Given the description of an element on the screen output the (x, y) to click on. 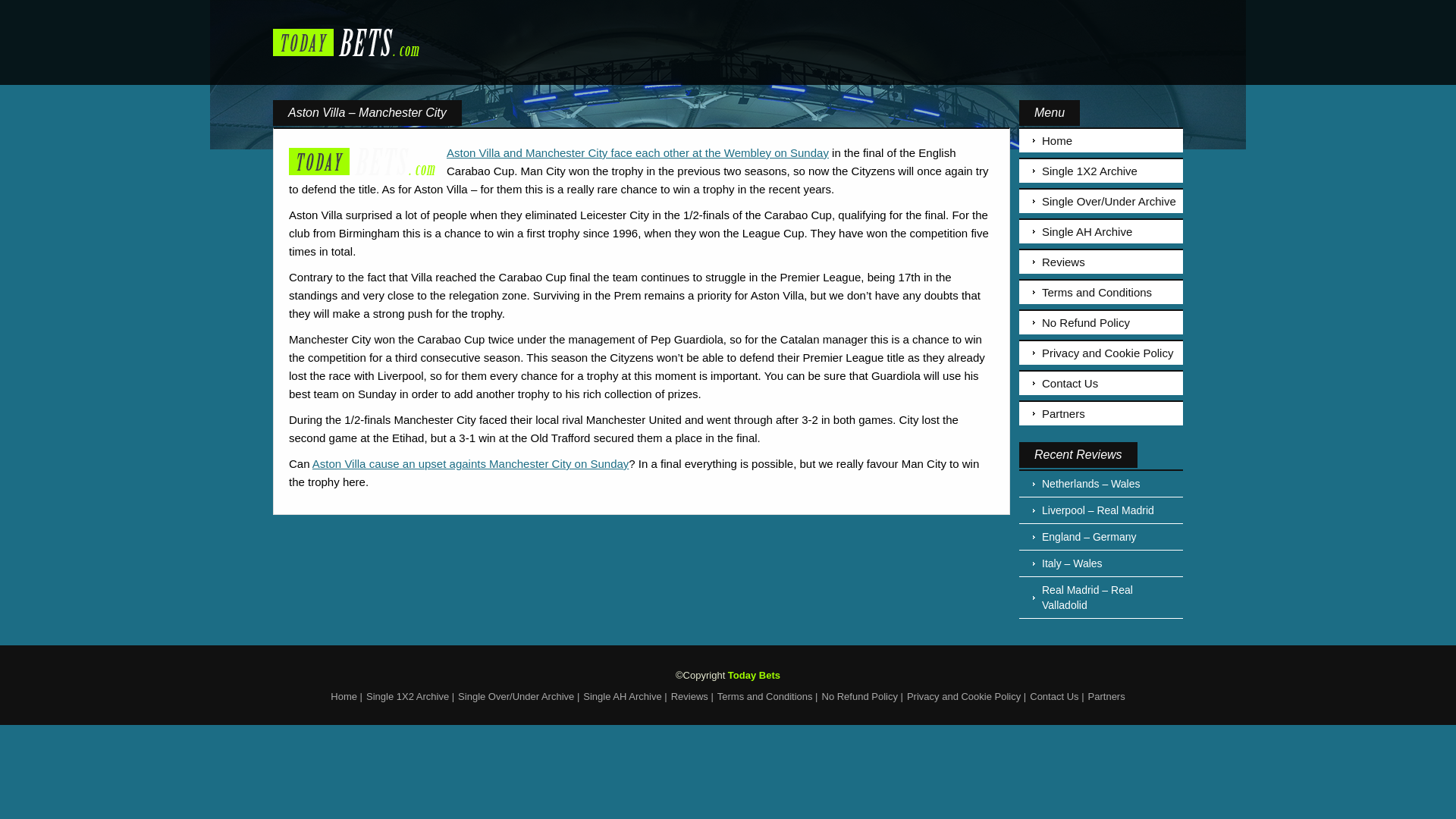
Single 1X2 Archive (407, 696)
Reviews (1100, 260)
Single AH Archive (1100, 230)
Terms and Conditions (764, 696)
Privacy and Cookie Policy (963, 696)
No Refund Policy (860, 696)
Today Bets (754, 674)
Reviews (689, 696)
Single 1X2 Archive (1100, 170)
Partners (1100, 412)
Today Bets (754, 674)
Contact Us (1053, 696)
Single AH Archive (622, 696)
Contact Us (1100, 382)
